Given the description of an element on the screen output the (x, y) to click on. 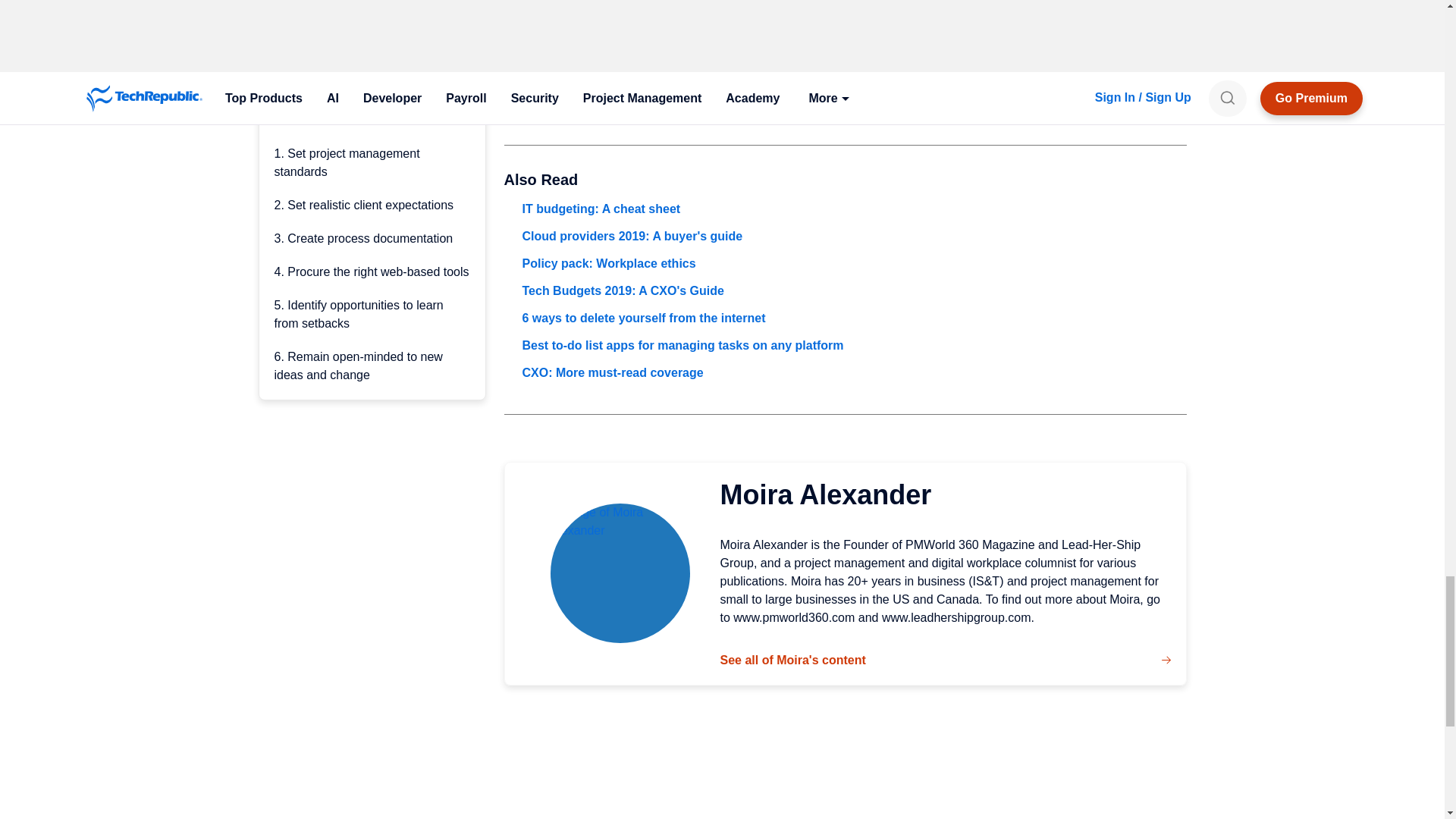
on (508, 2)
